Given the description of an element on the screen output the (x, y) to click on. 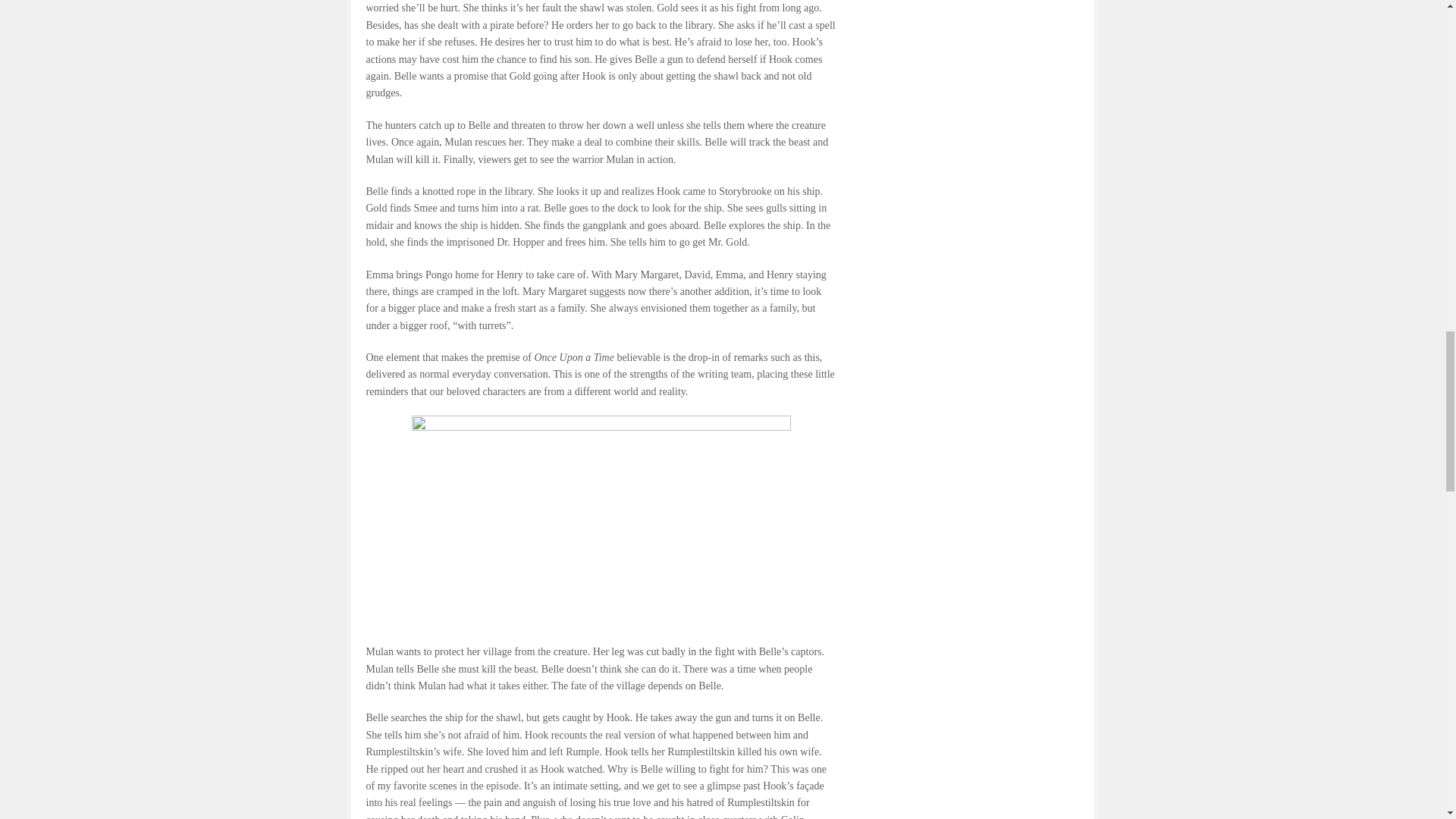
once211-2 (600, 521)
